Given the description of an element on the screen output the (x, y) to click on. 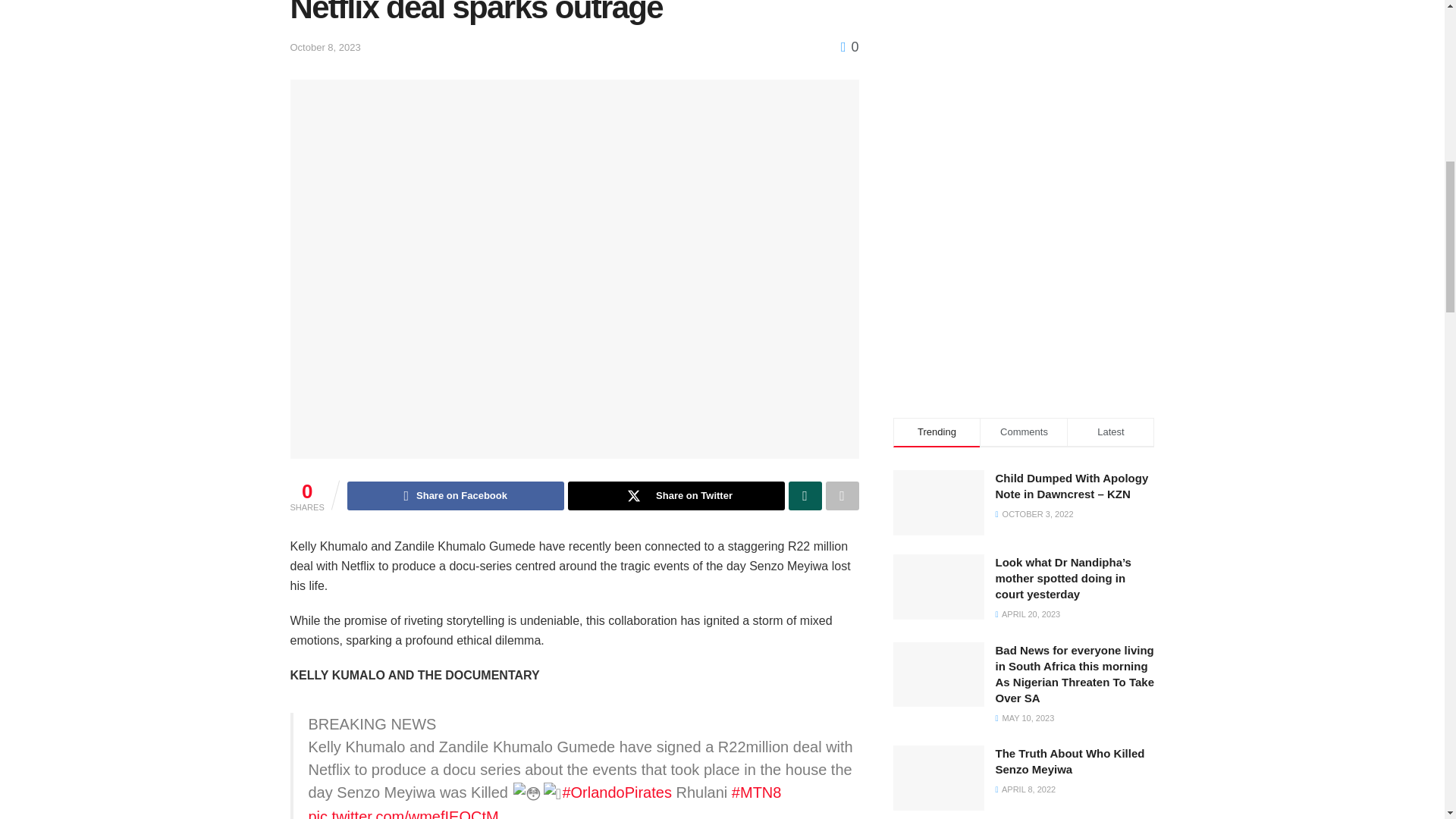
Share on Twitter (675, 495)
October 8, 2023 (324, 47)
0 (850, 46)
Share on Facebook (455, 495)
